Given the description of an element on the screen output the (x, y) to click on. 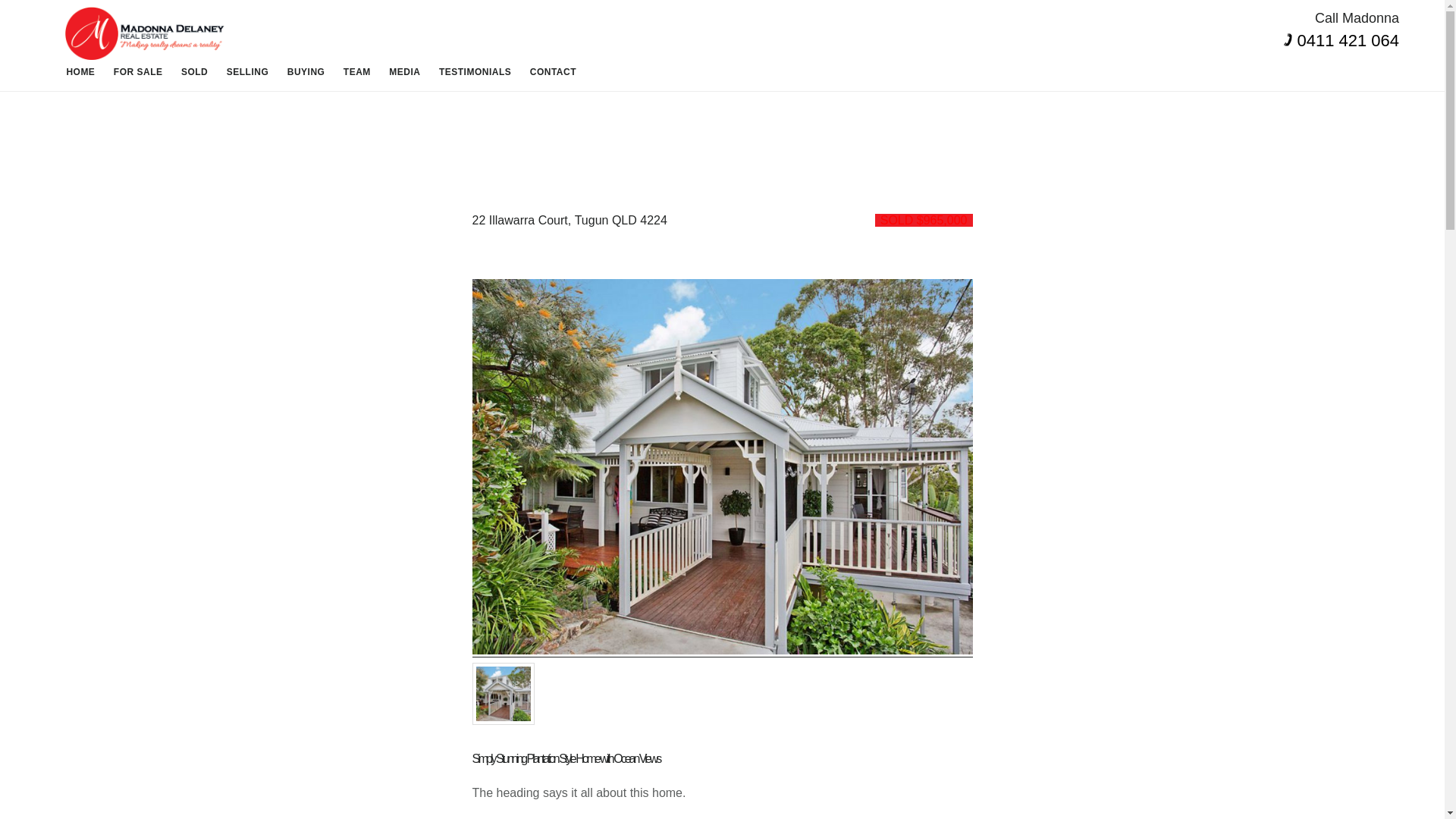
SELLING (247, 71)
MADONNA DELANEY REAL ESTATE (143, 32)
BUYING (306, 71)
TEAM (357, 71)
FOR SALE (138, 71)
MEDIA (404, 71)
SOLD (194, 71)
TESTIMONIALS (474, 71)
CONTACT (552, 71)
0411 421 064 (1348, 40)
HOME (79, 71)
